Given the description of an element on the screen output the (x, y) to click on. 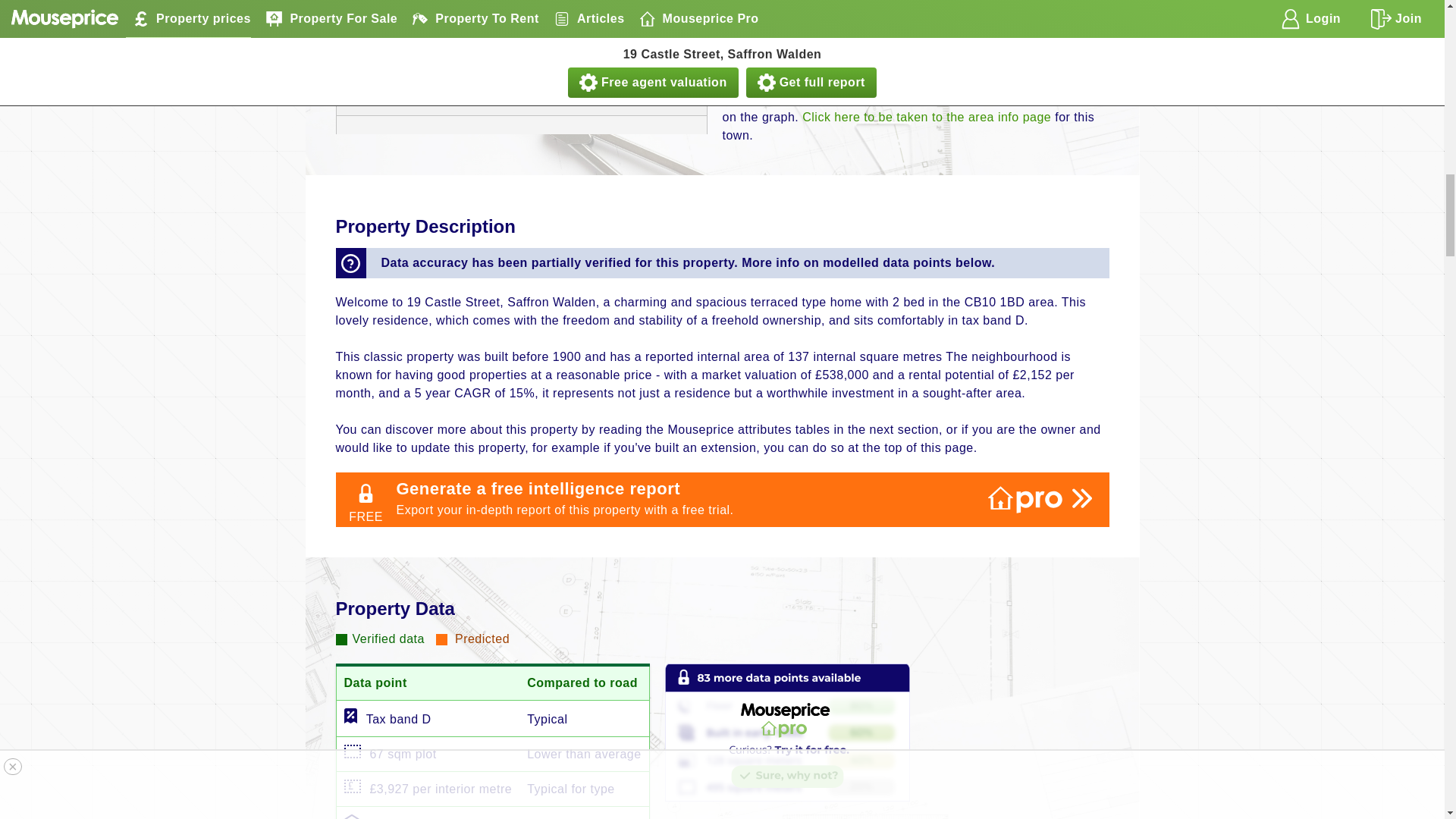
Click here to be taken to the area info page (926, 116)
